Given the description of an element on the screen output the (x, y) to click on. 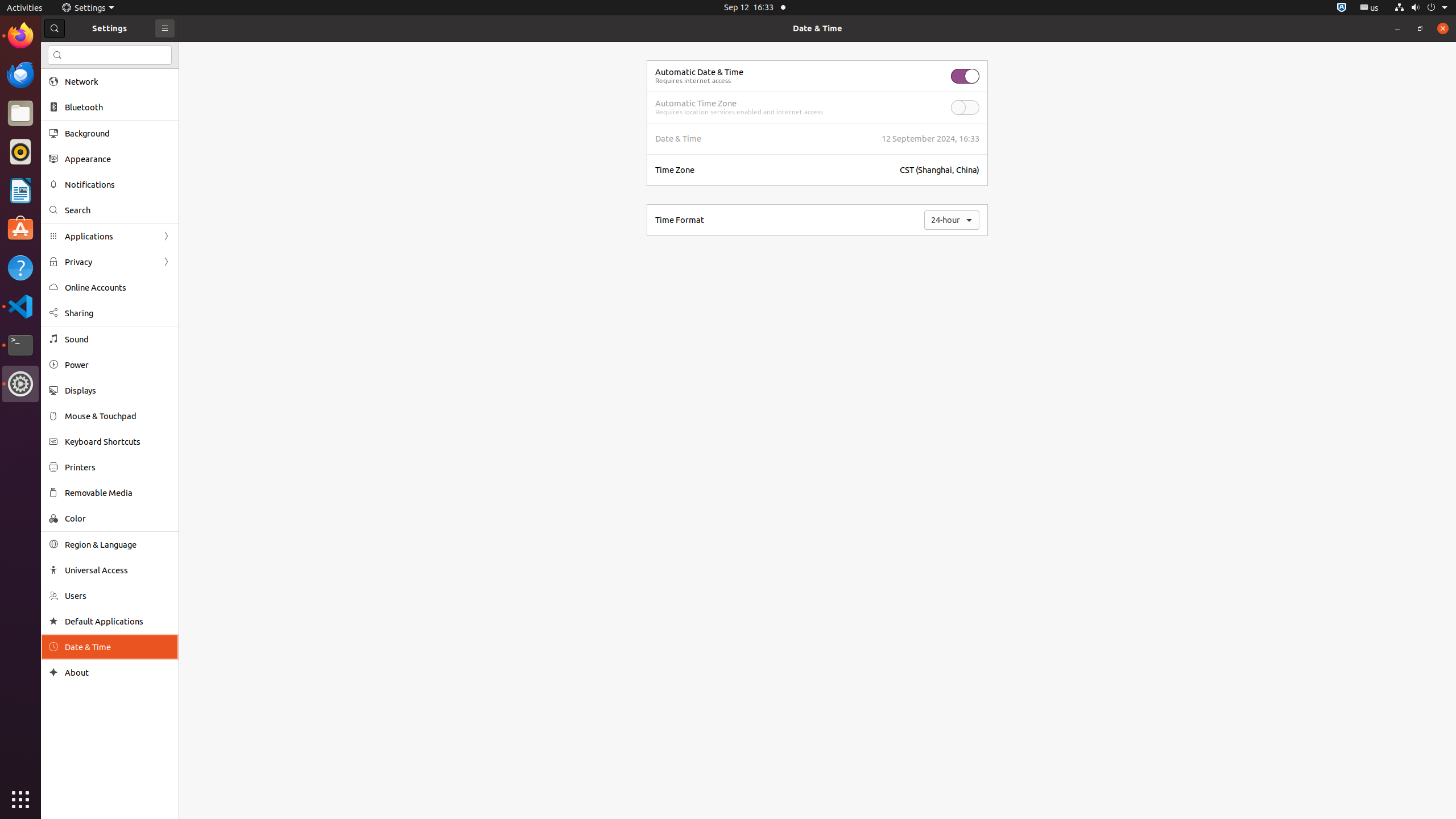
Requires location services enabled and internet access Element type: label (738, 112)
Forward Element type: icon (165, 261)
Search Element type: text (109, 54)
